Given the description of an element on the screen output the (x, y) to click on. 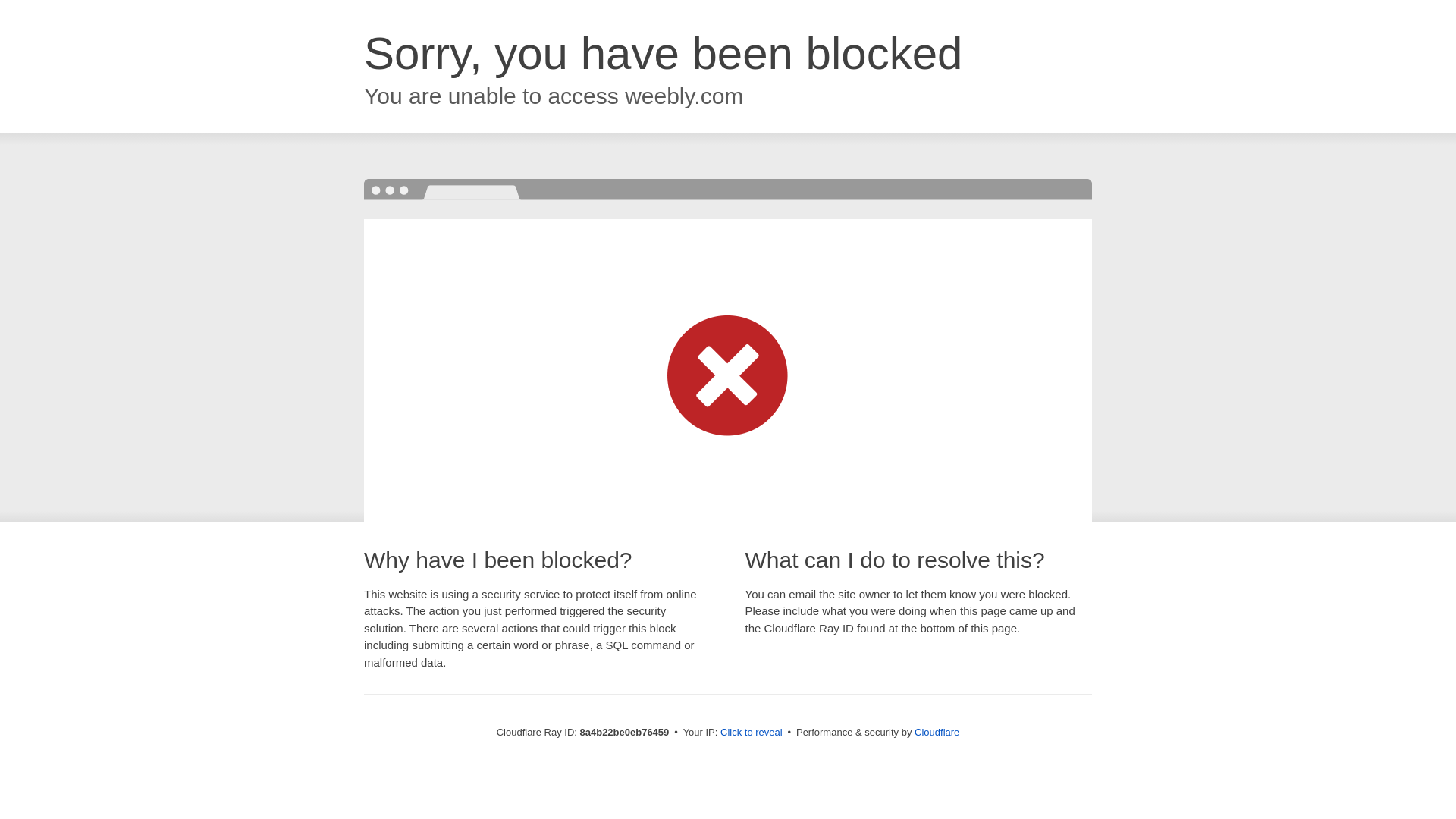
Click to reveal (751, 732)
Cloudflare (936, 731)
